Given the description of an element on the screen output the (x, y) to click on. 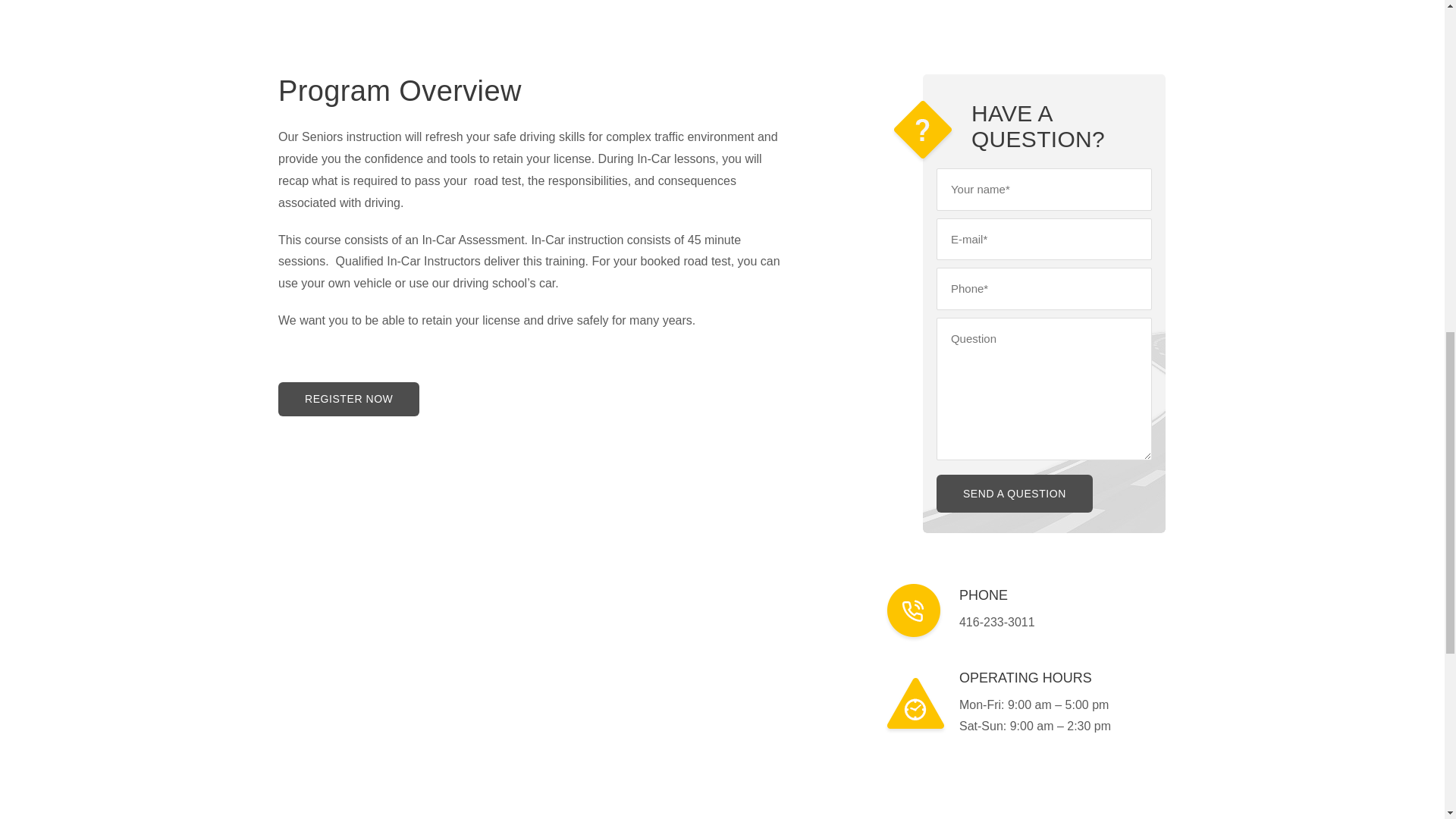
REGISTER NOW (348, 399)
SEND A QUESTION (1014, 493)
SEND A QUESTION (1014, 493)
